Given the description of an element on the screen output the (x, y) to click on. 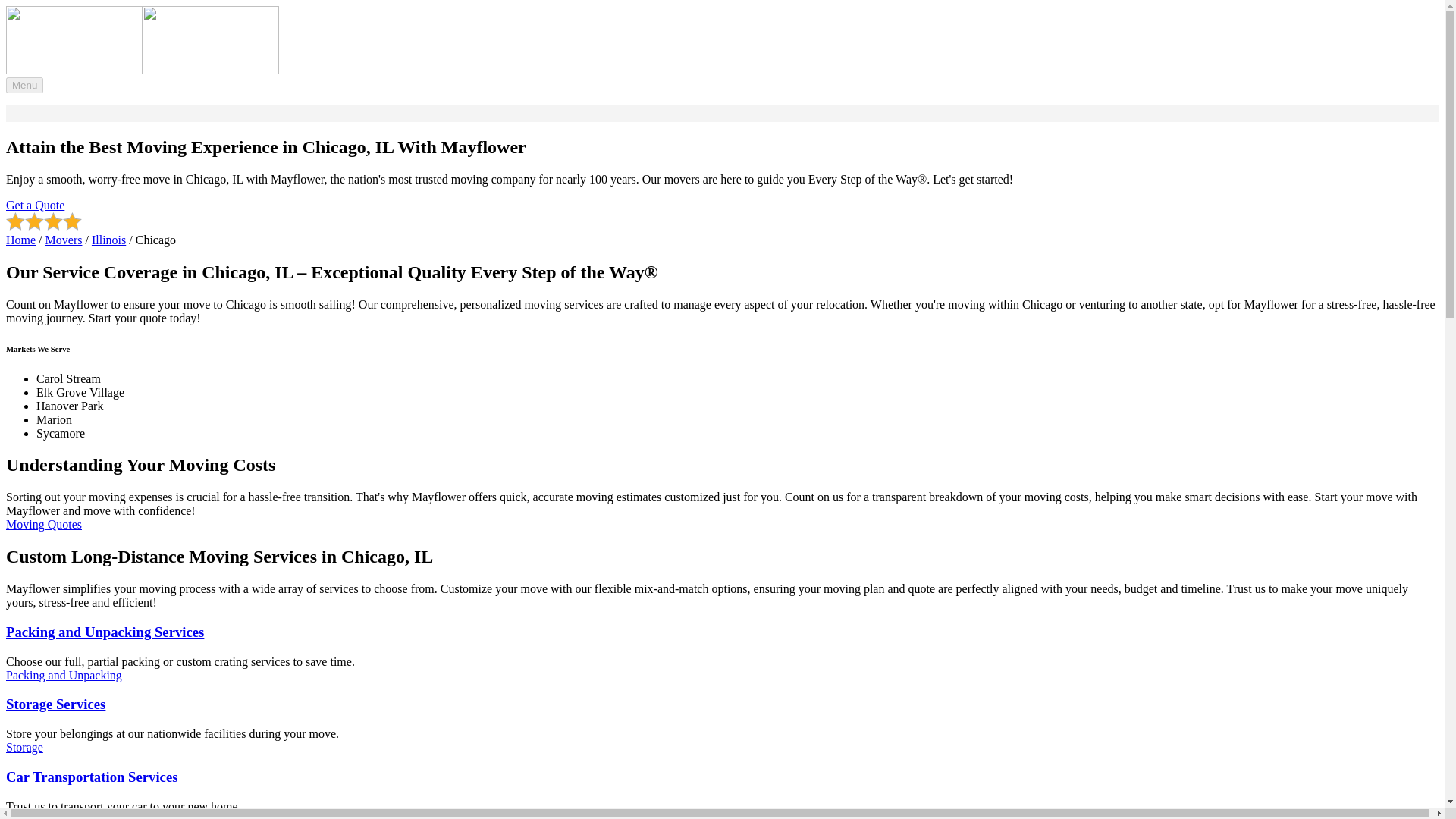
Packing and Unpacking (721, 632)
Illinois (108, 239)
Menu (24, 84)
Car Shipping (37, 816)
Get a Quote (34, 205)
Storage (721, 704)
Packing and Unpacking (63, 675)
Car Transportation Services (721, 777)
Moving Quotes (43, 523)
Car Shipping (721, 777)
Packing and Unpacking Services (721, 632)
Storage (24, 747)
Home (19, 239)
Movers (63, 239)
Storage Services (721, 704)
